Given the description of an element on the screen output the (x, y) to click on. 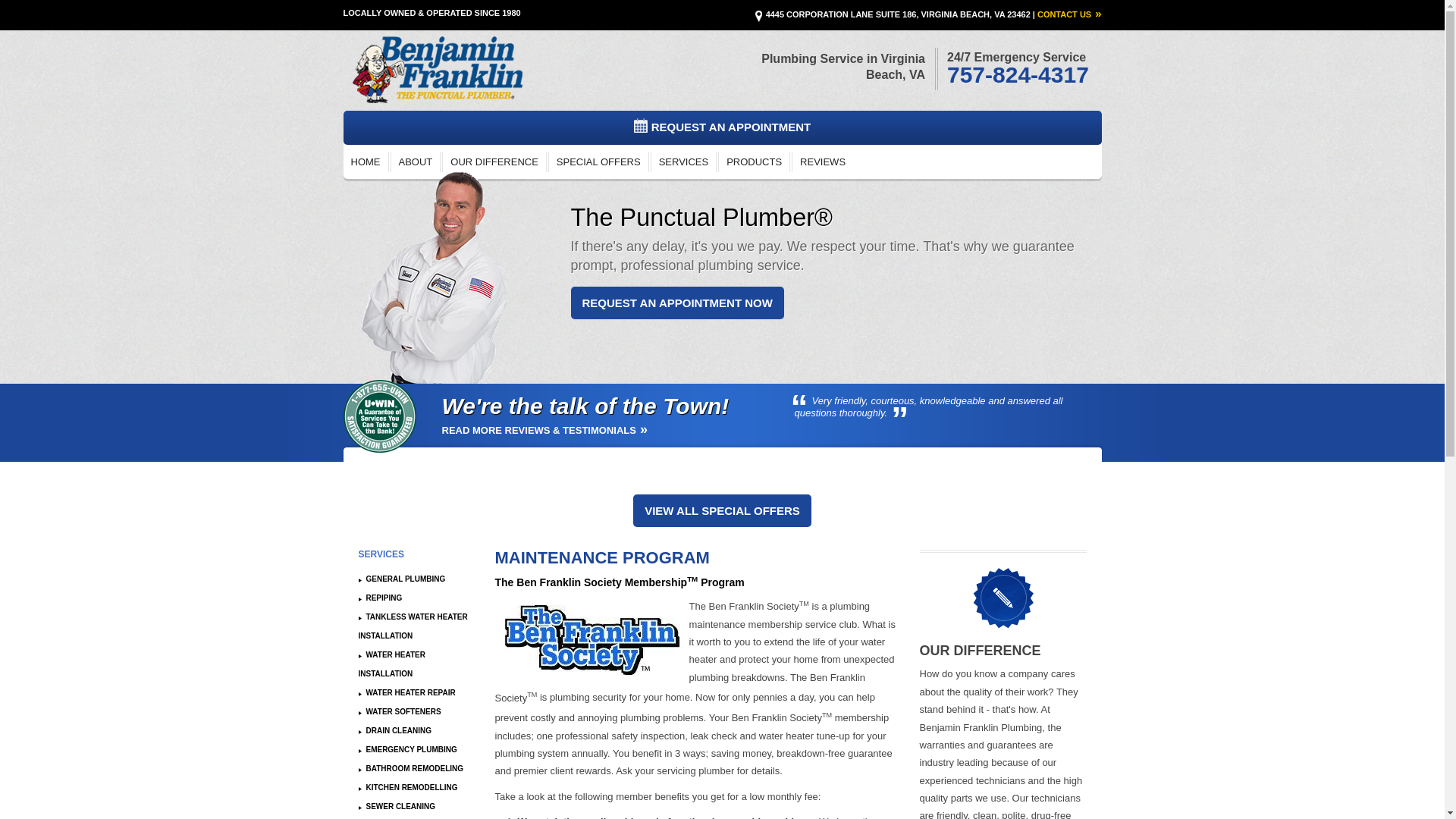
REVIEWS (822, 161)
PRODUCTS (754, 161)
HOME (364, 161)
SPECIAL OFFERS (597, 161)
Benjamin Franklin Plumbing (435, 69)
CONTACT US (1069, 13)
GENERAL PLUMBING (401, 578)
ABOUT (416, 161)
OUR DIFFERENCE (494, 161)
SERVICES (683, 161)
REQUEST AN APPOINTMENT NOW (676, 302)
REQUEST AN APPOINTMENT (721, 127)
VIEW ALL SPECIAL OFFERS (721, 510)
